Given the description of an element on the screen output the (x, y) to click on. 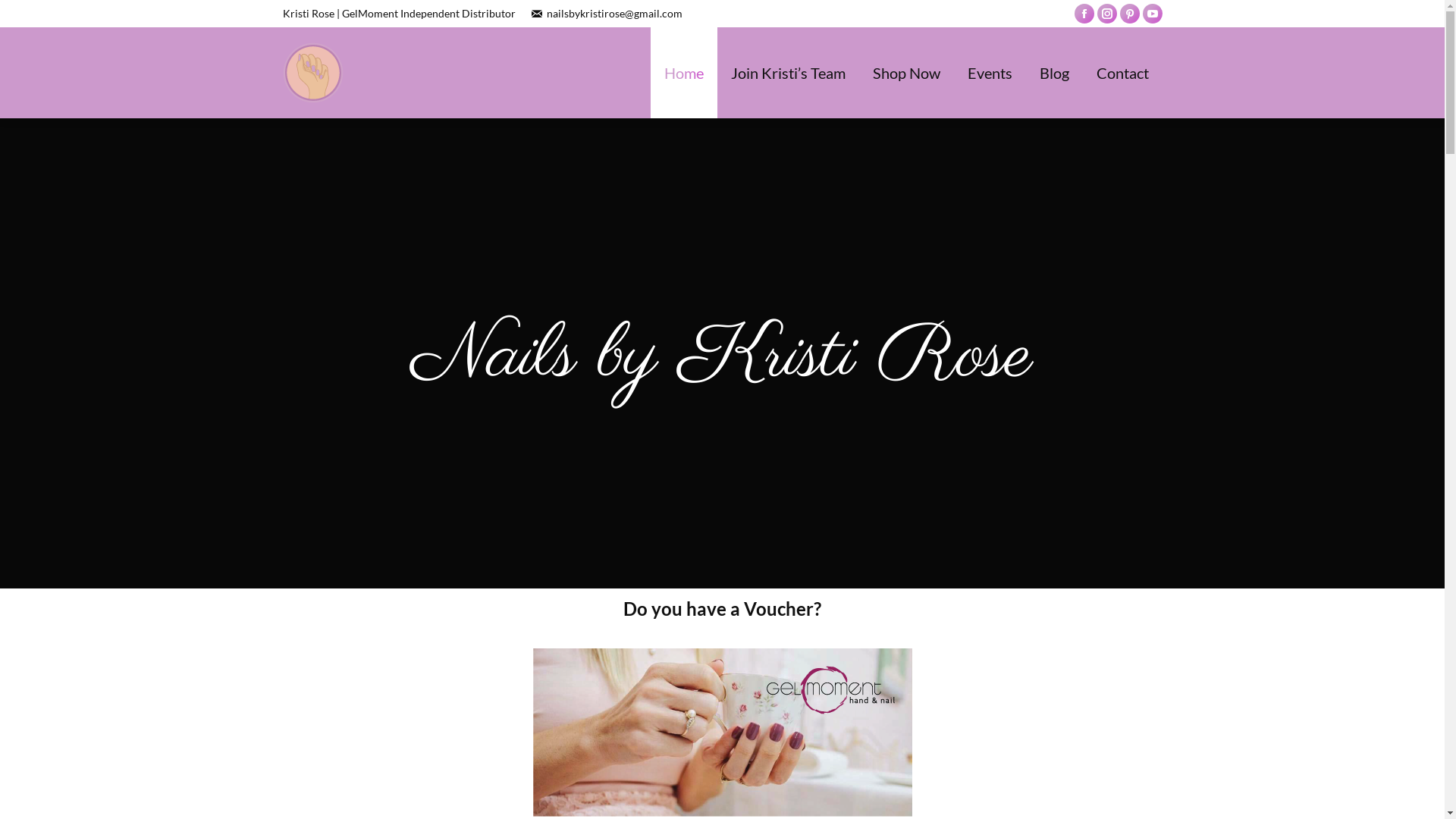
Home Element type: text (683, 72)
Blog Element type: text (1053, 72)
Shop Now Element type: text (905, 72)
Instagram Element type: text (1106, 13)
Facebook Element type: text (1083, 13)
Events Element type: text (989, 72)
Contact Element type: text (1122, 72)
YouTube Element type: text (1151, 13)
Pinterest Element type: text (1129, 13)
